Given the description of an element on the screen output the (x, y) to click on. 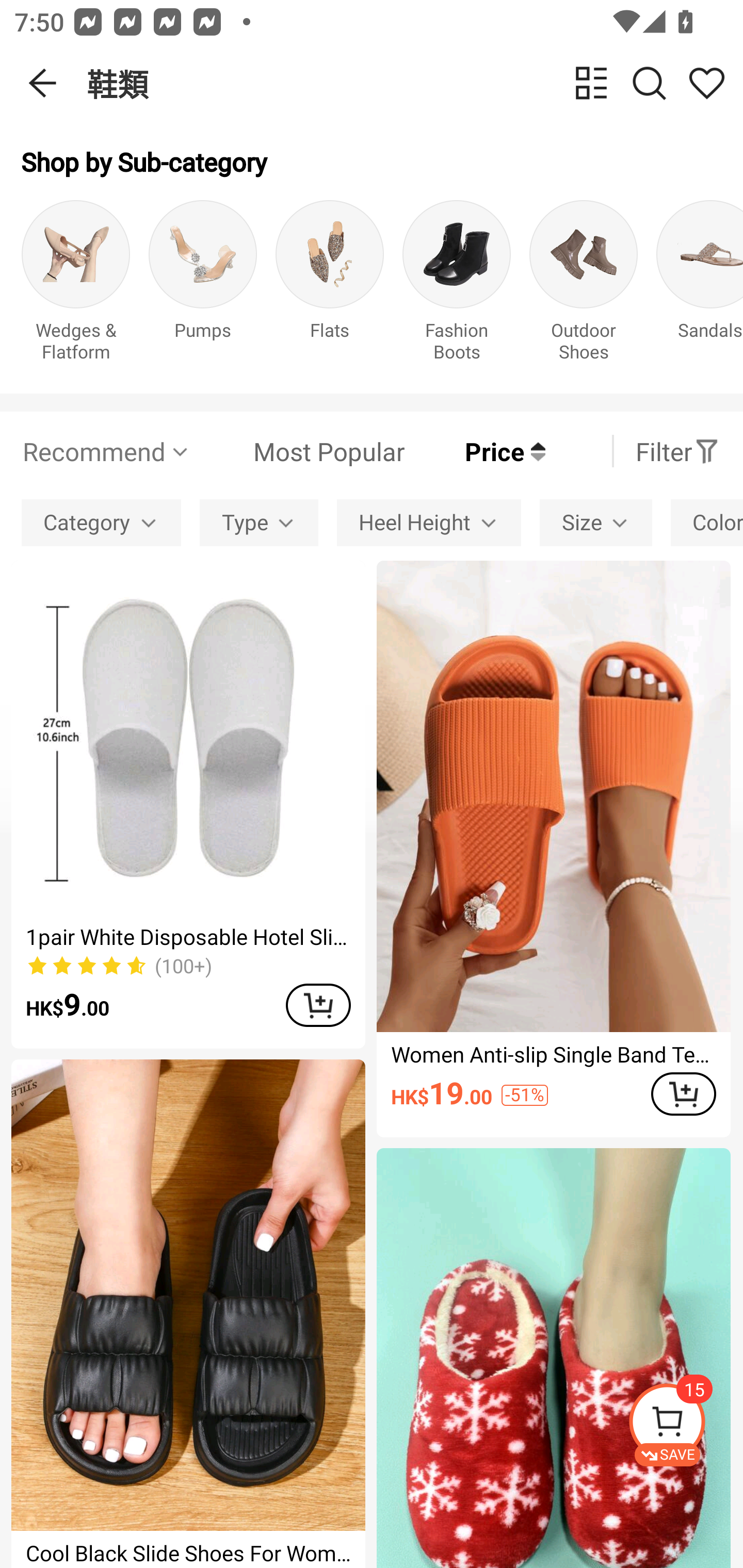
鞋類 change view Search Share (414, 82)
change view (591, 82)
Search (648, 82)
Share (706, 82)
Wedges & Flatform (75, 285)
Pumps (202, 285)
Flats (329, 285)
Fashion Boots (456, 285)
Outdoor Shoes (583, 285)
Sandals (699, 285)
Recommend (106, 450)
Most Popular (297, 450)
Price (474, 450)
Filter (677, 450)
Category (101, 521)
Type (258, 521)
Heel Height (428, 521)
Size (595, 521)
Color (706, 521)
ADD TO CART (318, 1005)
ADD TO CART (683, 1094)
Snowflake Pattern Fuzzy Bedroom Slippers (553, 1357)
SAVE (685, 1424)
